Given the description of an element on the screen output the (x, y) to click on. 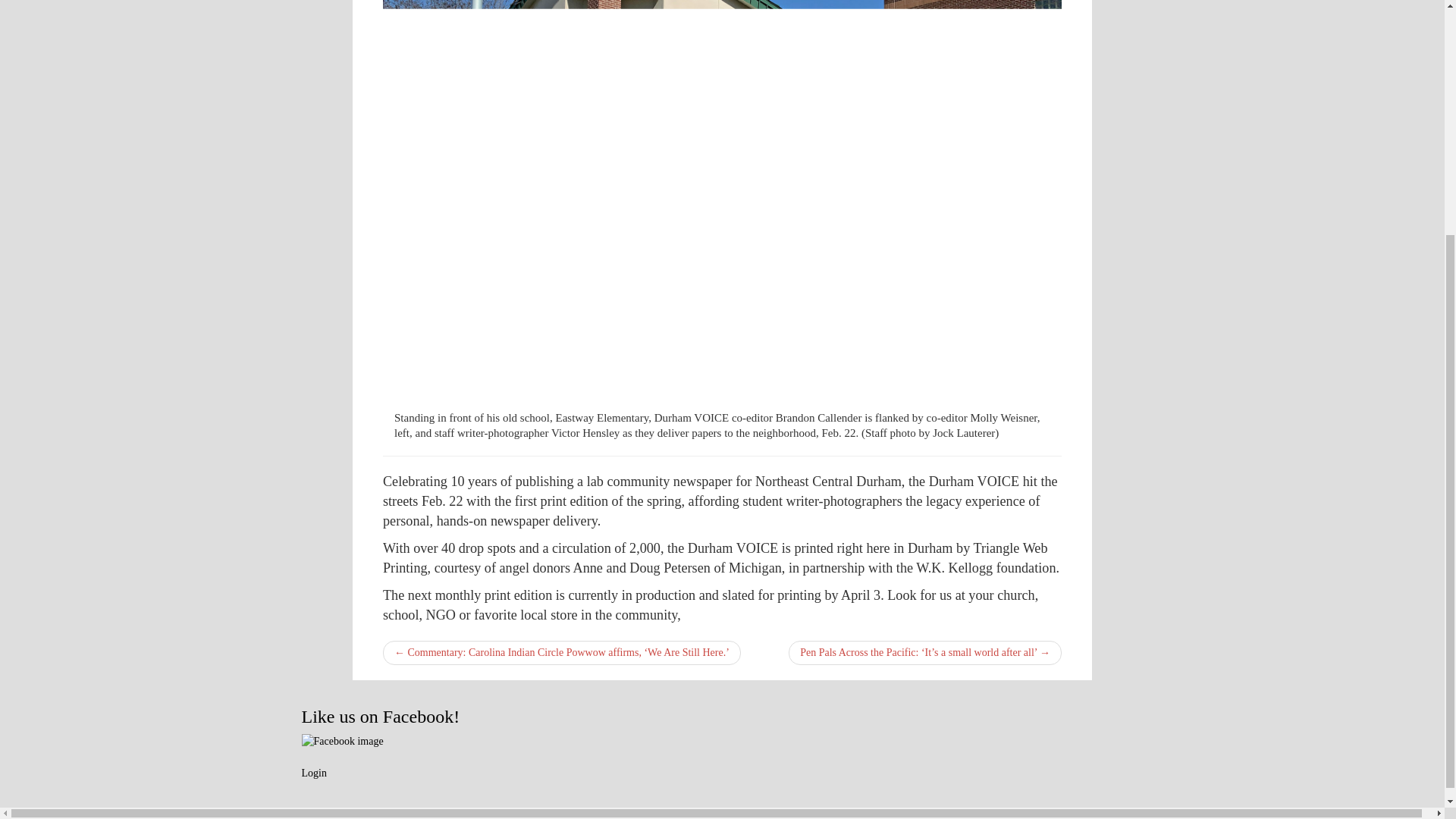
Like us on Facebook! (380, 716)
Login (313, 772)
